Given the description of an element on the screen output the (x, y) to click on. 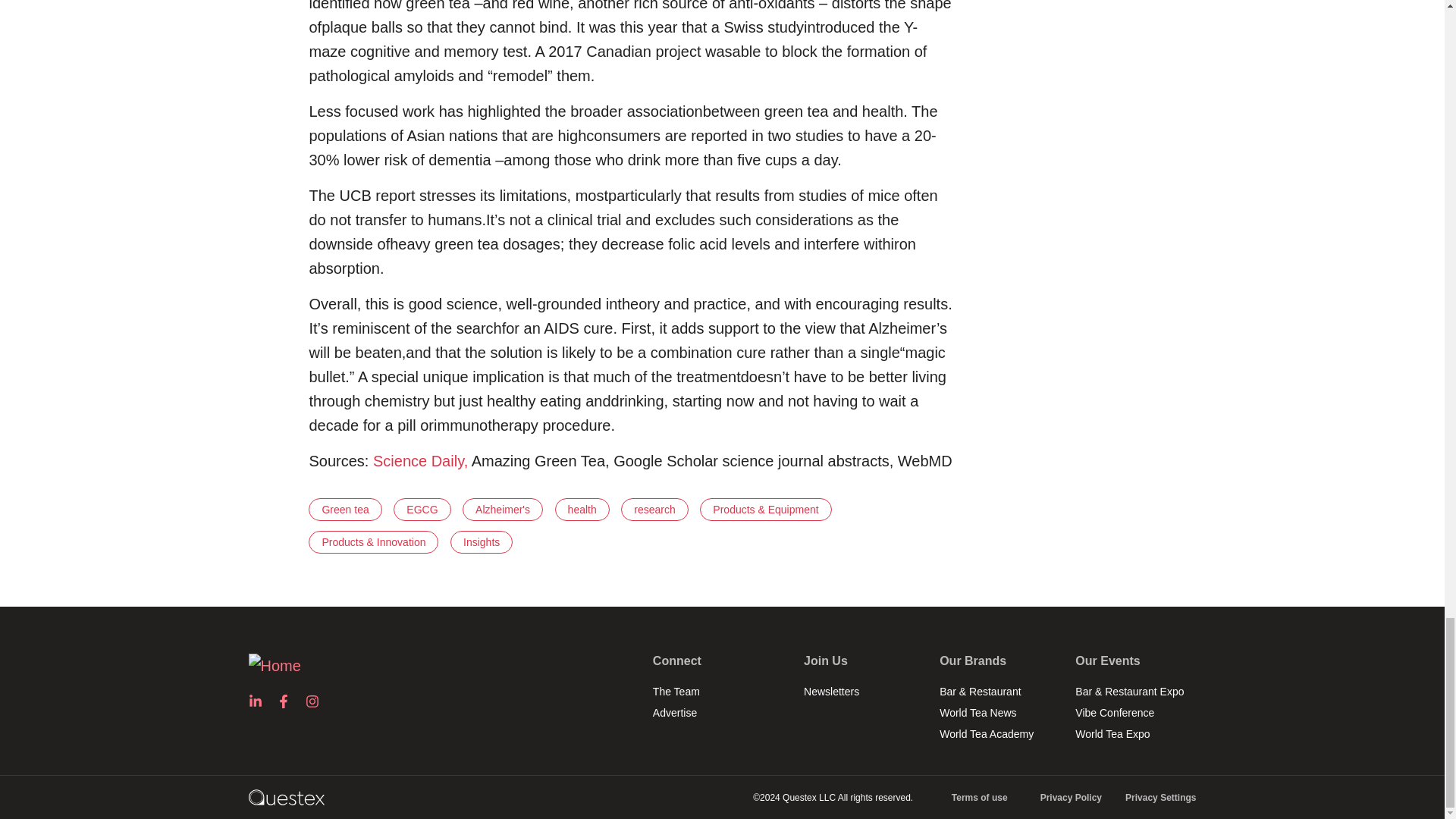
Advertise (720, 712)
Our Brands (999, 666)
The Team (720, 690)
Newsletters (863, 690)
